Given the description of an element on the screen output the (x, y) to click on. 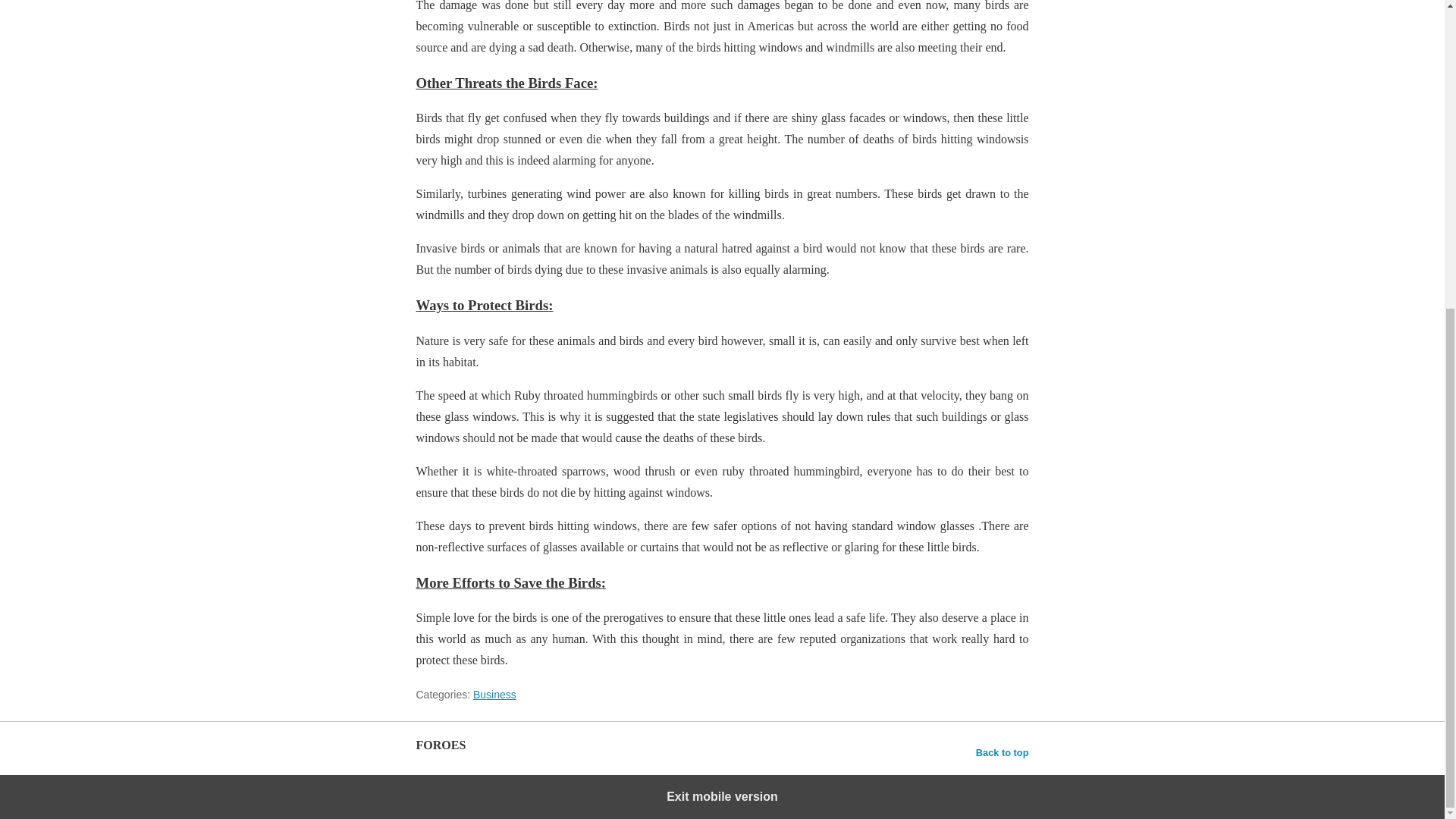
Back to top (1002, 752)
Business (494, 694)
